Given the description of an element on the screen output the (x, y) to click on. 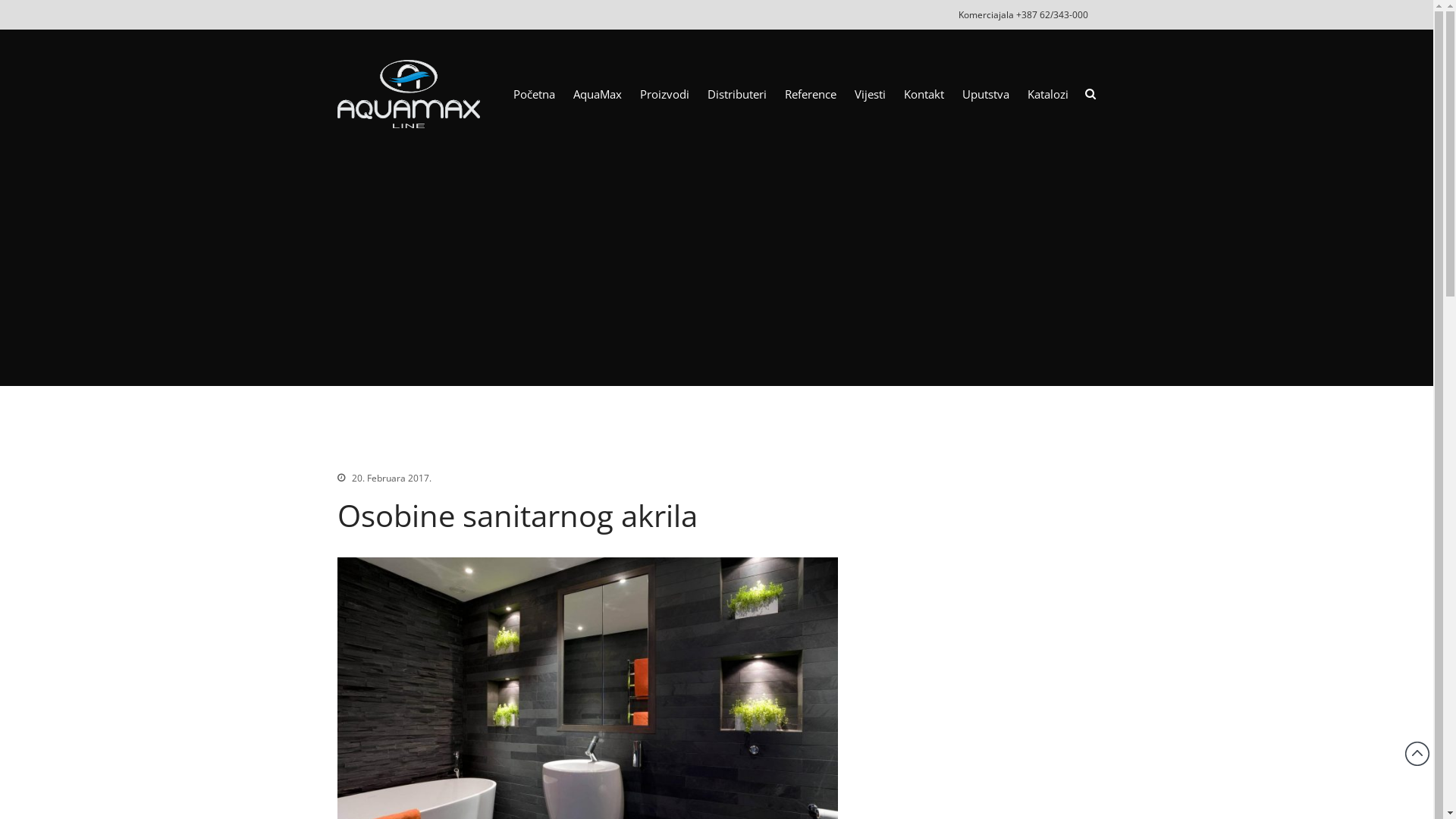
AquaMax Element type: text (597, 93)
Proizvodi Element type: text (664, 93)
Advertisement Element type: hover (716, 256)
Aquamax Element type: text (522, 103)
Uputstva Element type: text (985, 93)
Katalozi Element type: text (1047, 93)
Vijesti Element type: text (870, 93)
Reference Element type: text (810, 93)
Pretraga Element type: text (1357, 312)
Kontakt Element type: text (923, 93)
Distributeri Element type: text (736, 93)
Back to top Element type: text (1417, 753)
Komerciajala +387 62/343-000 Element type: text (1023, 14)
